Given the description of an element on the screen output the (x, y) to click on. 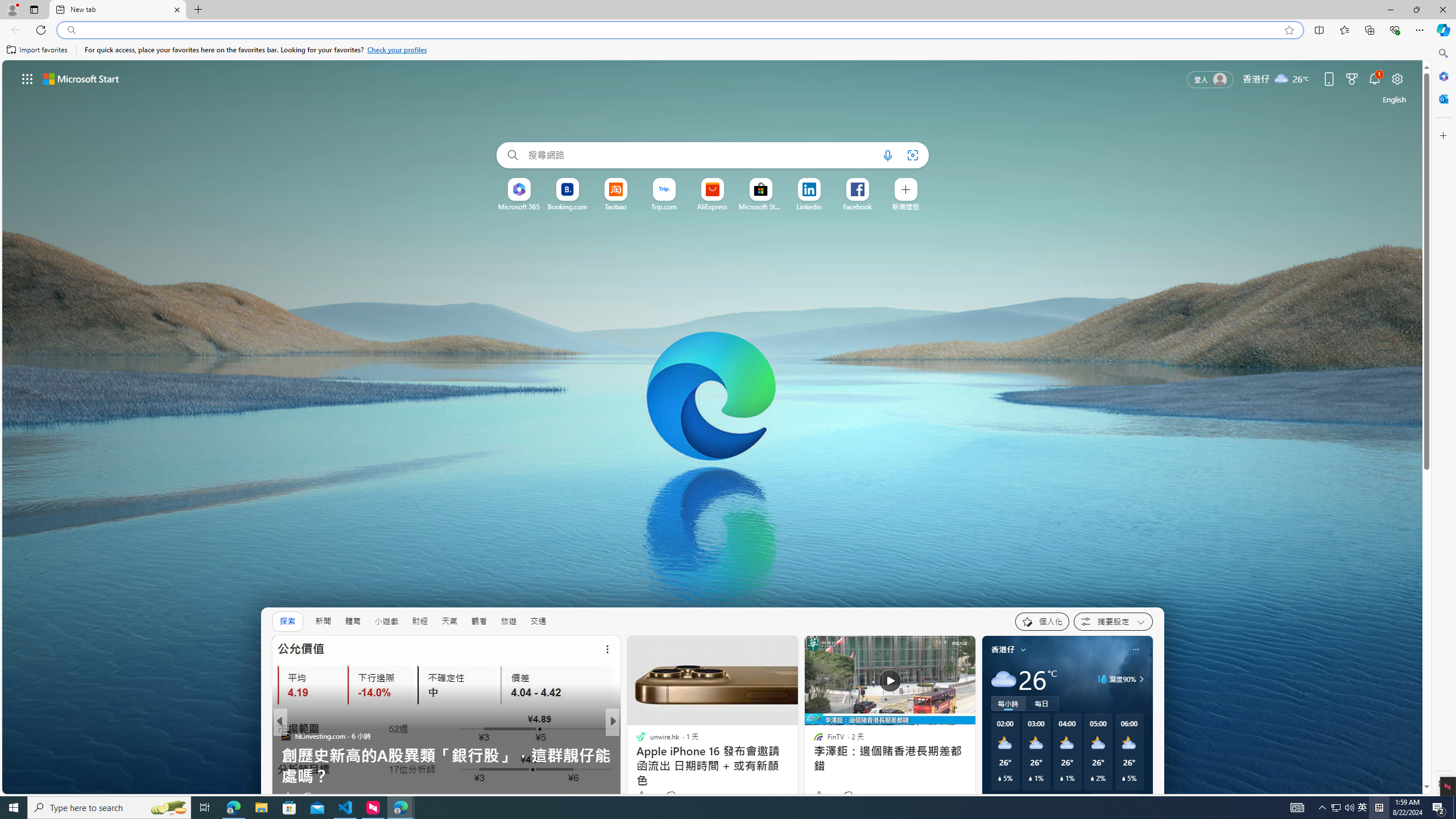
Microsoft Rewards (1351, 78)
Profile 1 Profile, Please sign in (12, 9)
hk.investing.com (286, 735)
Linkedin (808, 206)
